Given the description of an element on the screen output the (x, y) to click on. 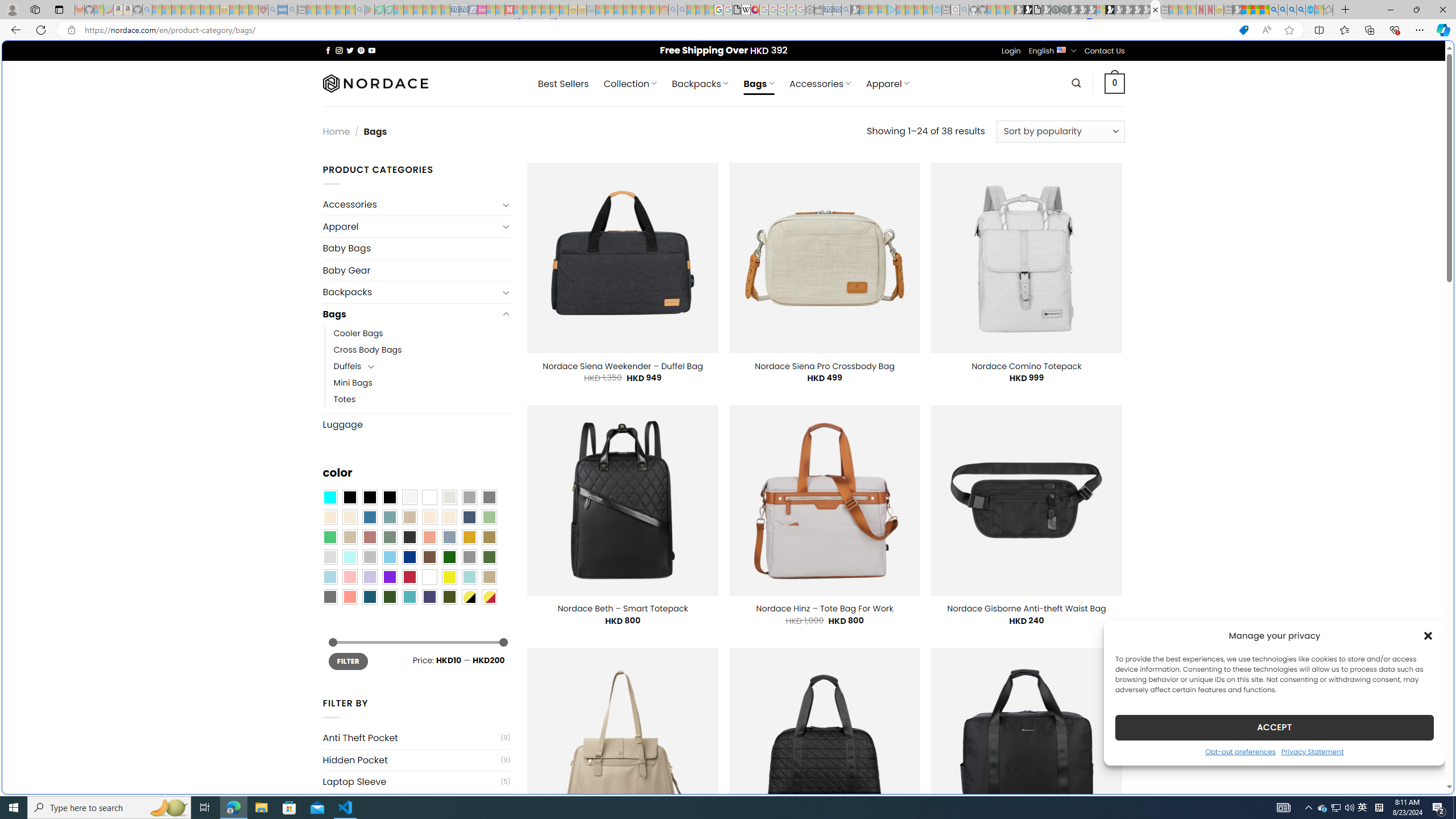
Accessories (410, 204)
Cream (449, 517)
2009 Bing officially replaced Live Search on June 3 - Search (1283, 9)
Light Gray (329, 557)
  0   (1115, 83)
Cross Body Bags (367, 349)
